Given the description of an element on the screen output the (x, y) to click on. 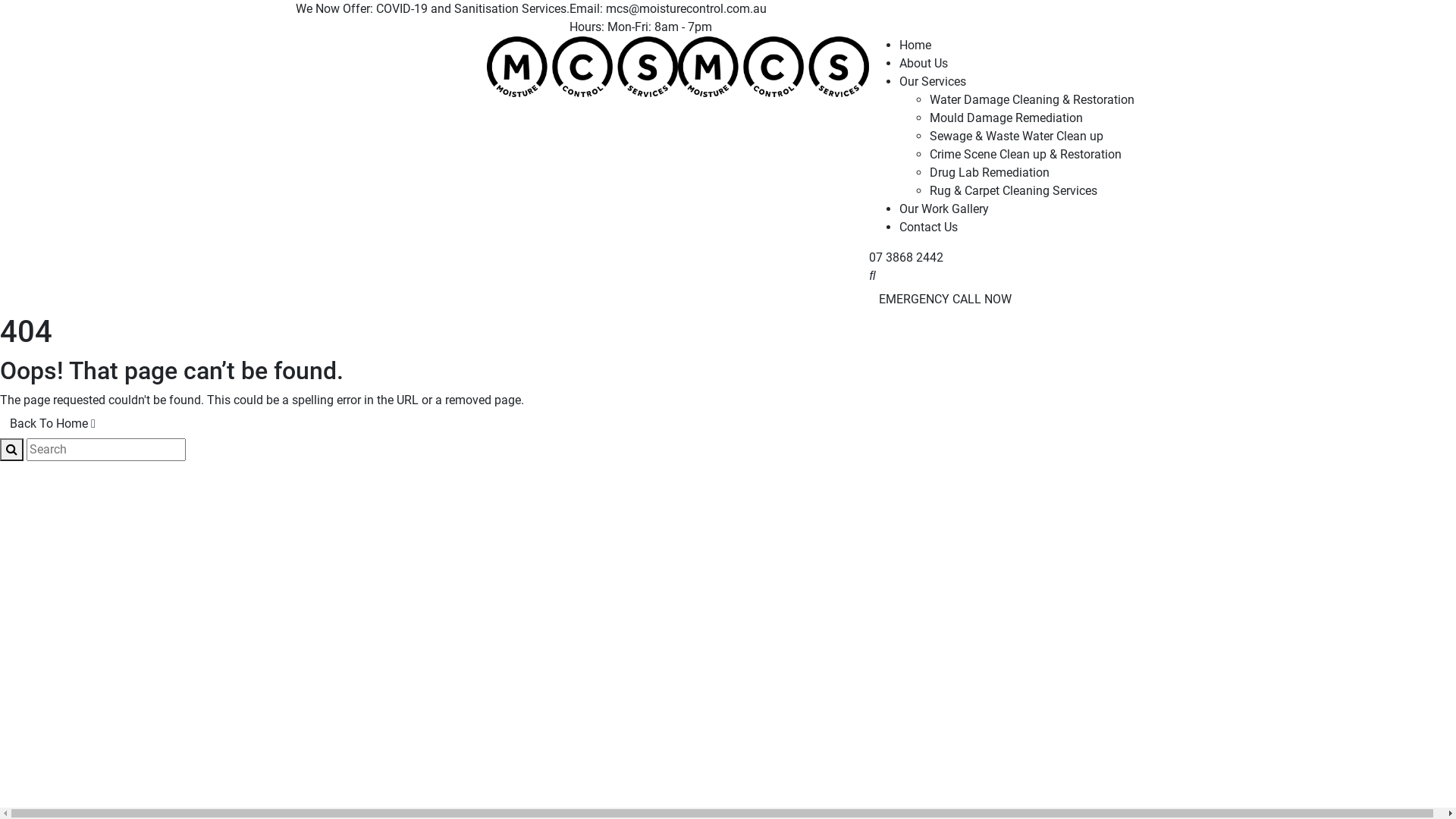
07 3868 2442 Element type: text (906, 257)
Moisture Control Services Element type: hover (581, 65)
Back To Home Element type: text (52, 423)
Crime Scene Clean up & Restoration Element type: text (1025, 154)
EMERGENCY CALL NOW Element type: text (945, 299)
About Us Element type: text (923, 63)
Home Element type: text (915, 44)
Water Damage Cleaning & Restoration Element type: text (1031, 99)
Contact Us Element type: text (928, 226)
mcs@moisturecontrol.com.au Element type: text (685, 8)
Rug & Carpet Cleaning Services Element type: text (1013, 190)
Moisture Control Services Element type: hover (773, 65)
Our Work Gallery Element type: text (943, 208)
Drug Lab Remediation Element type: text (989, 172)
Our Services Element type: text (932, 81)
Moisture Control Services Element type: hover (390, 65)
Sewage & Waste Water Clean up Element type: text (1016, 135)
Mould Damage Remediation Element type: text (1005, 117)
